Given the description of an element on the screen output the (x, y) to click on. 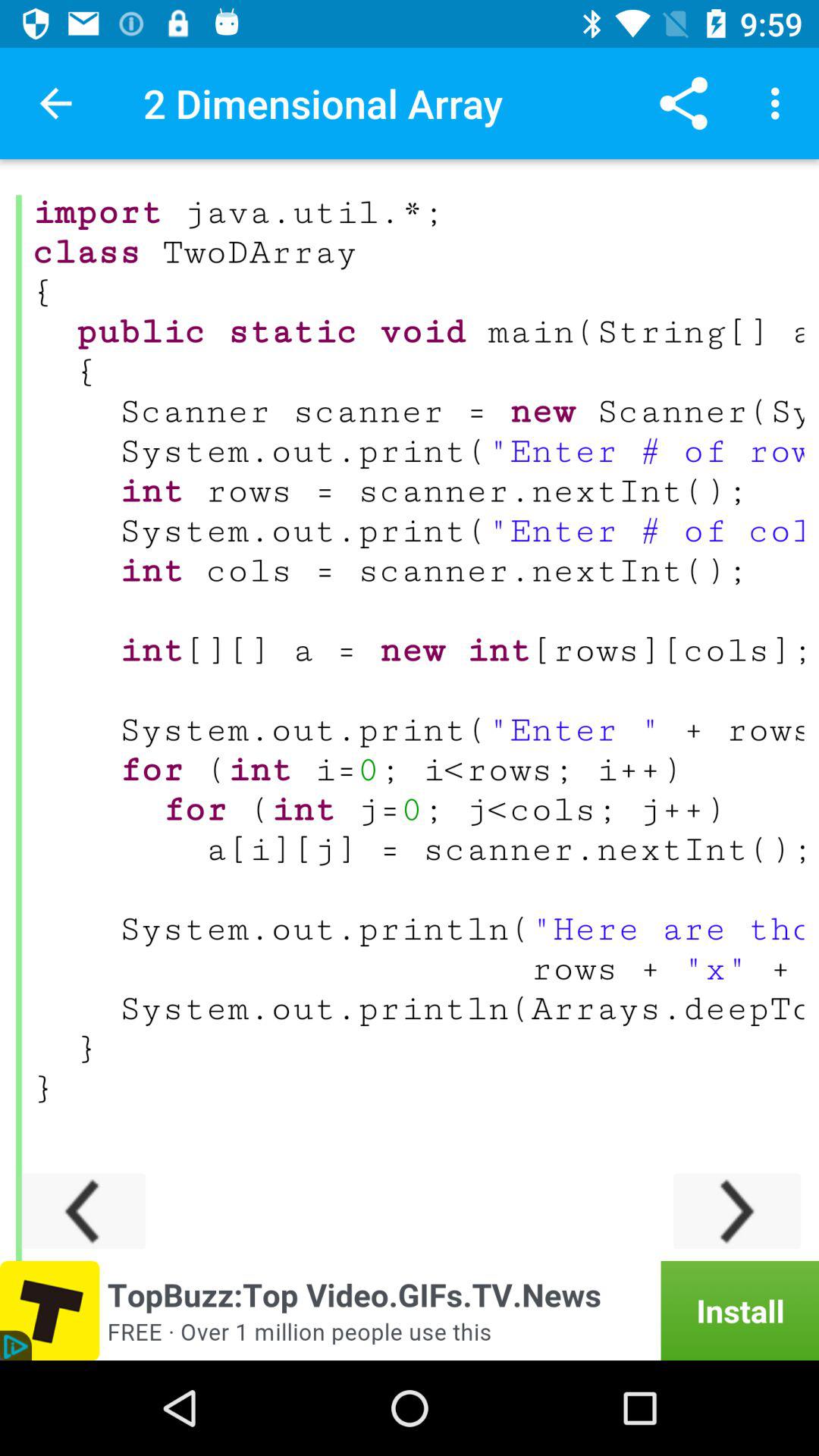
back button (81, 1210)
